Given the description of an element on the screen output the (x, y) to click on. 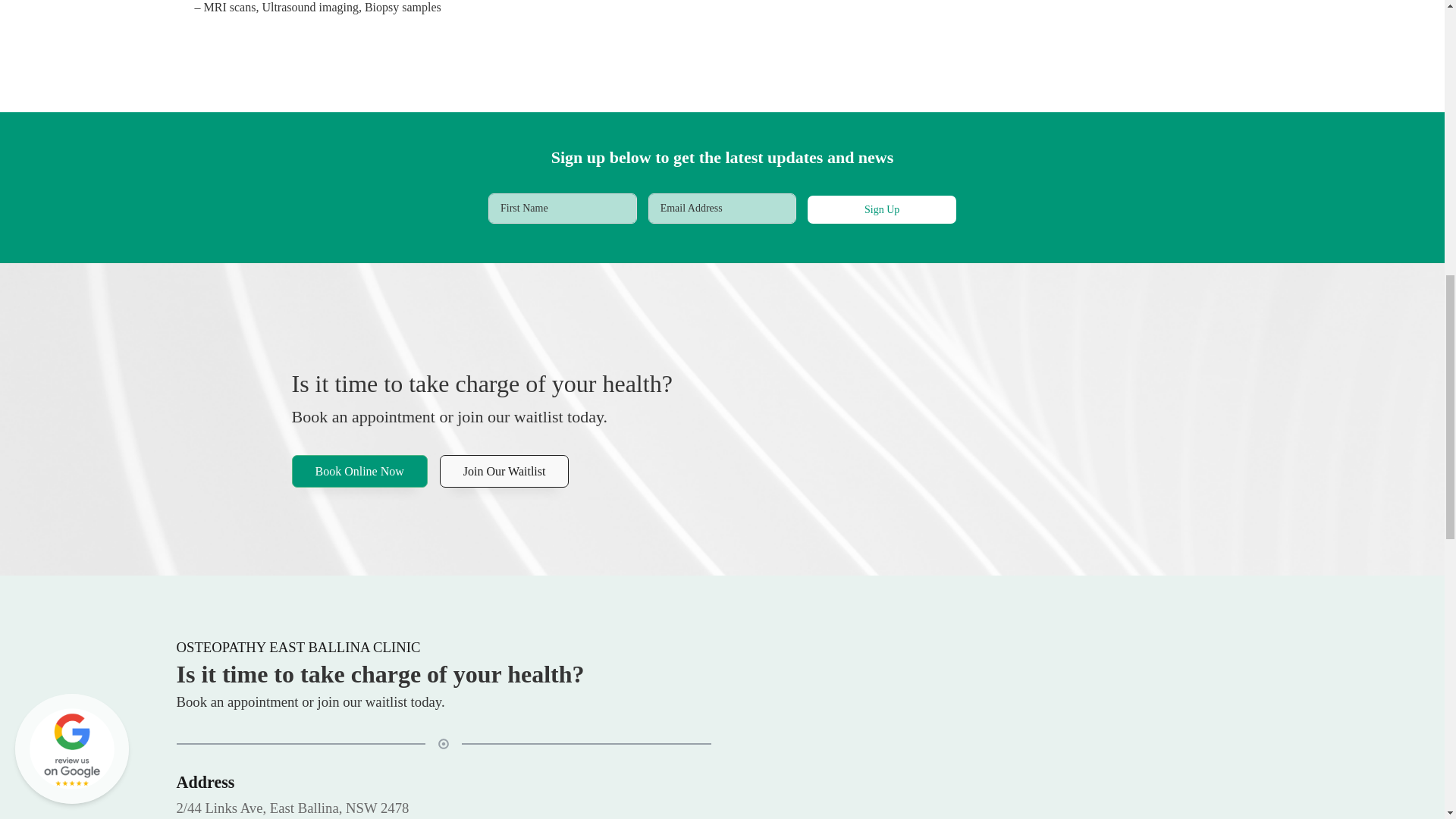
Sign Up (882, 209)
Book Online Now (358, 471)
Join Our Waitlist (504, 471)
